Given the description of an element on the screen output the (x, y) to click on. 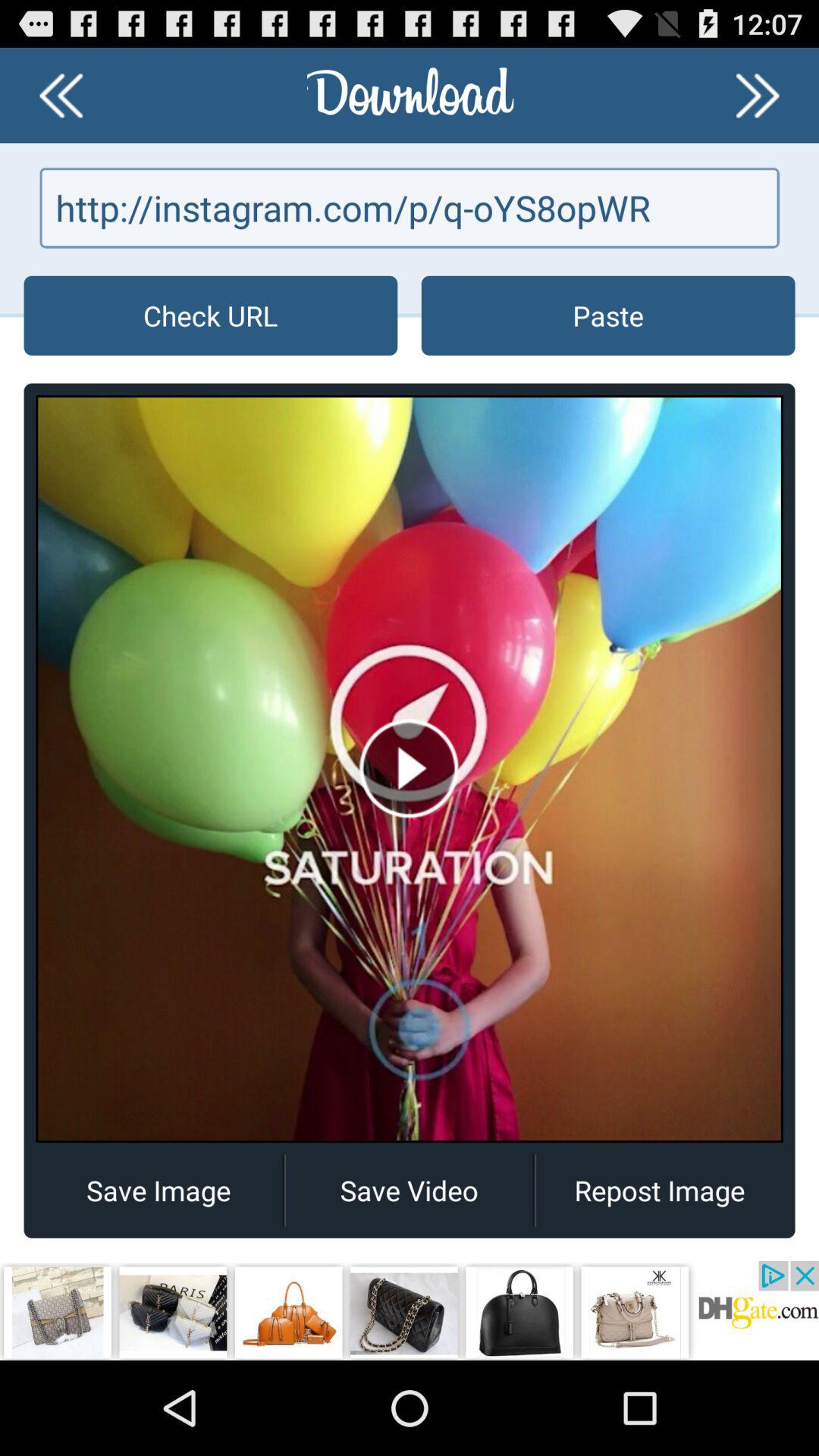
back to previous page (61, 95)
